Given the description of an element on the screen output the (x, y) to click on. 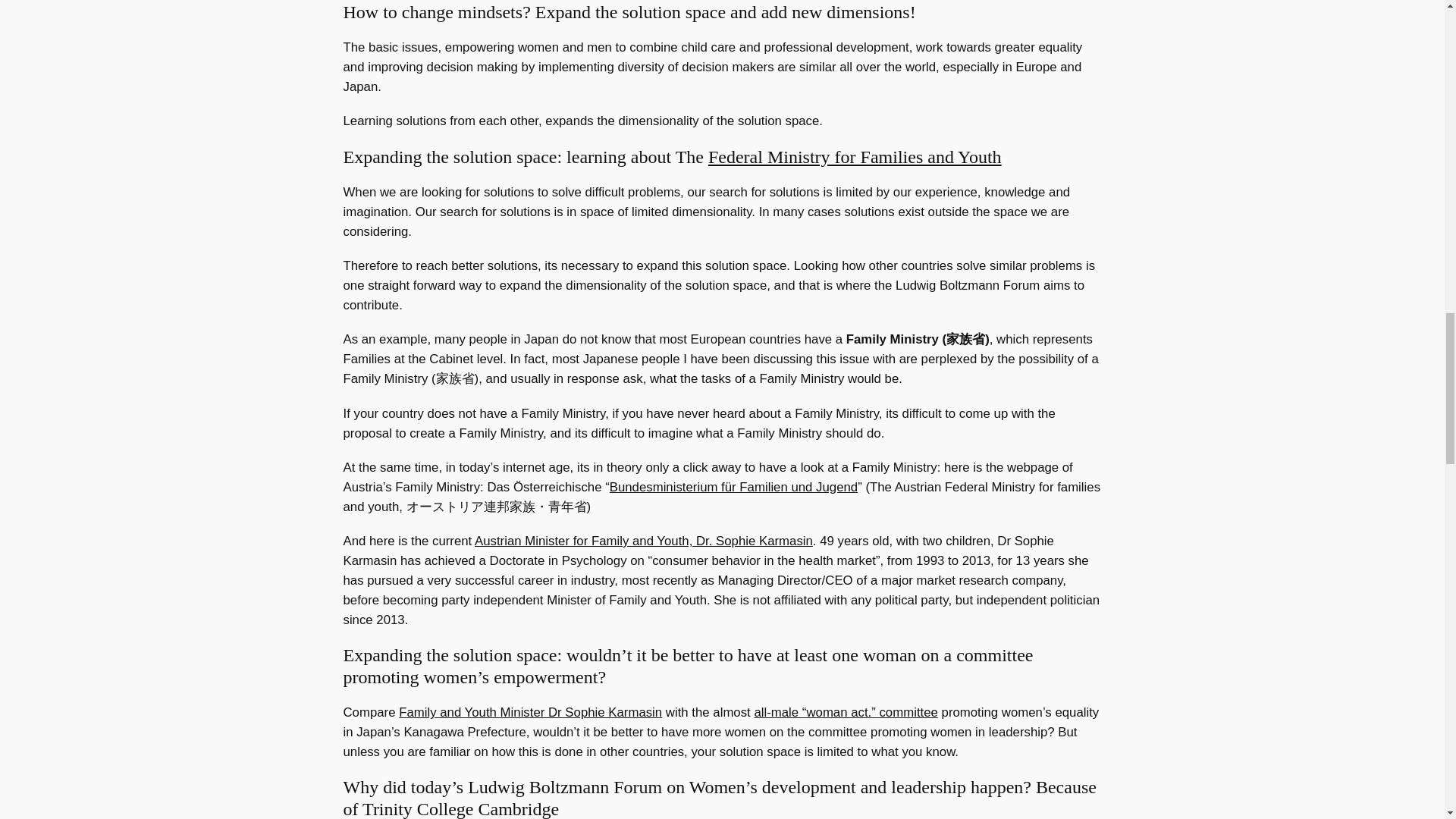
Federal Ministry for Families and Youth (854, 157)
Austrian Minister for Family and Youth, Dr. Sophie Karmasin (643, 540)
Family and Youth Minister Dr Sophie Karmasin (530, 712)
